Given the description of an element on the screen output the (x, y) to click on. 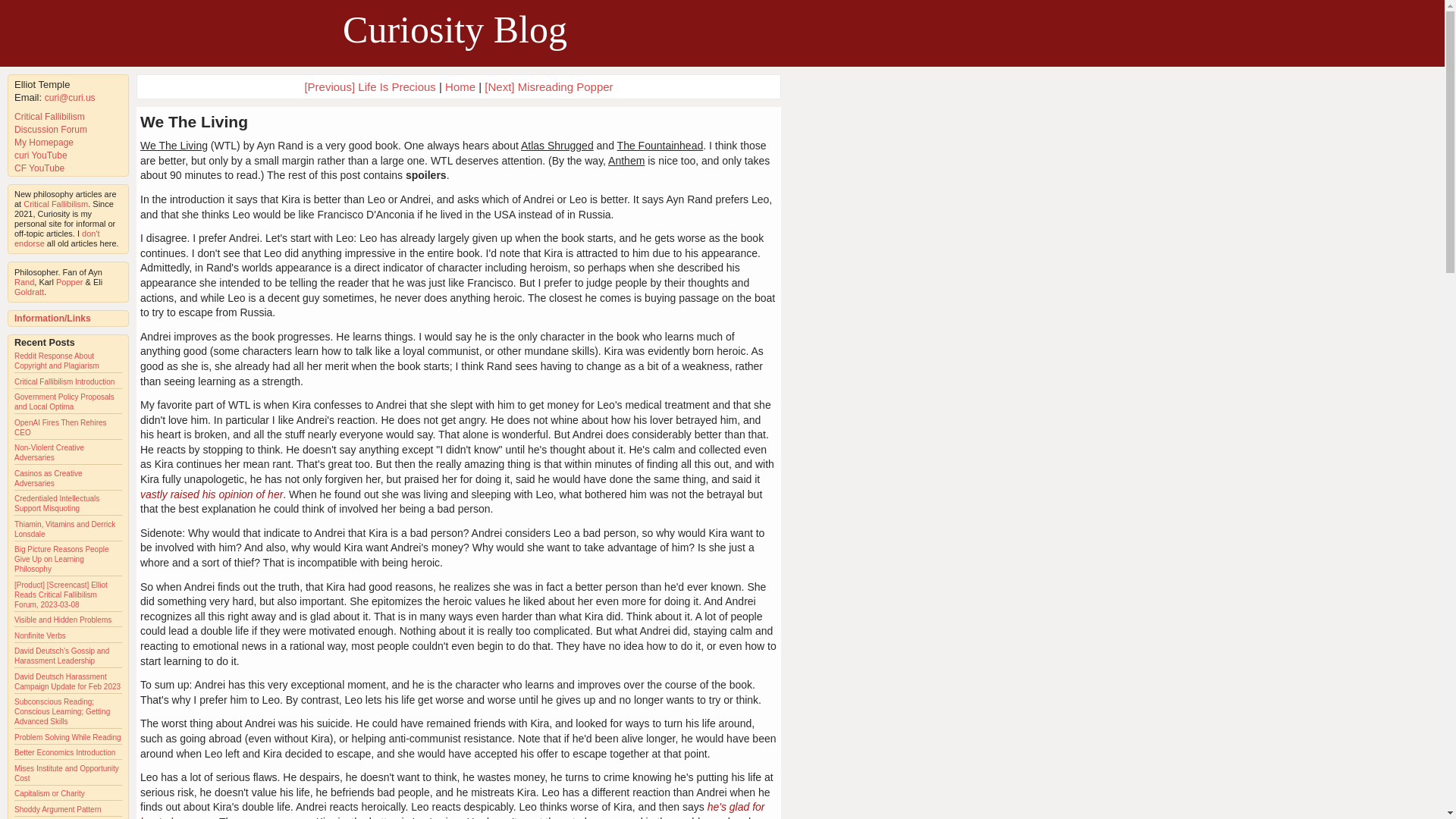
Problem Solving While Reading (67, 737)
CF YouTube (39, 167)
Government Policy Proposals and Local Optima (64, 402)
Better Economics Introduction (64, 752)
Reddit Response About Copyright and Plagiarism (56, 361)
don't endorse (57, 238)
curi YouTube (40, 154)
OpenAI Fires Then Rehires CEO (60, 427)
Goldratt (28, 291)
Casinos as Creative Adversaries (47, 478)
Discussion Forum (50, 129)
Mises Institute and Opportunity Cost (66, 773)
David Deutsch Harassment Campaign Update for Feb 2023 (67, 681)
Shoddy Argument Pattern (57, 809)
Rand (23, 281)
